Given the description of an element on the screen output the (x, y) to click on. 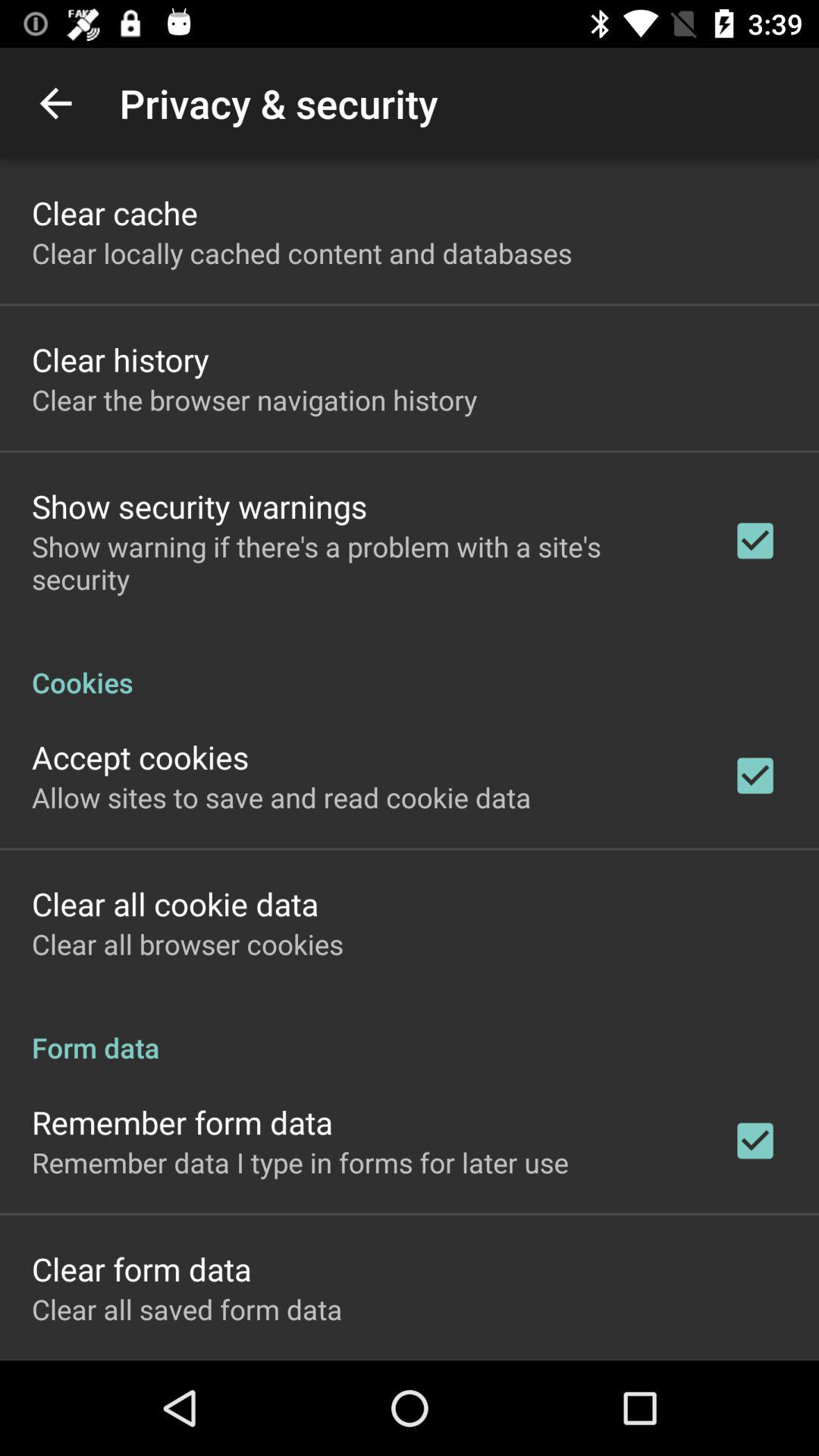
launch app to the left of privacy & security item (55, 103)
